Given the description of an element on the screen output the (x, y) to click on. 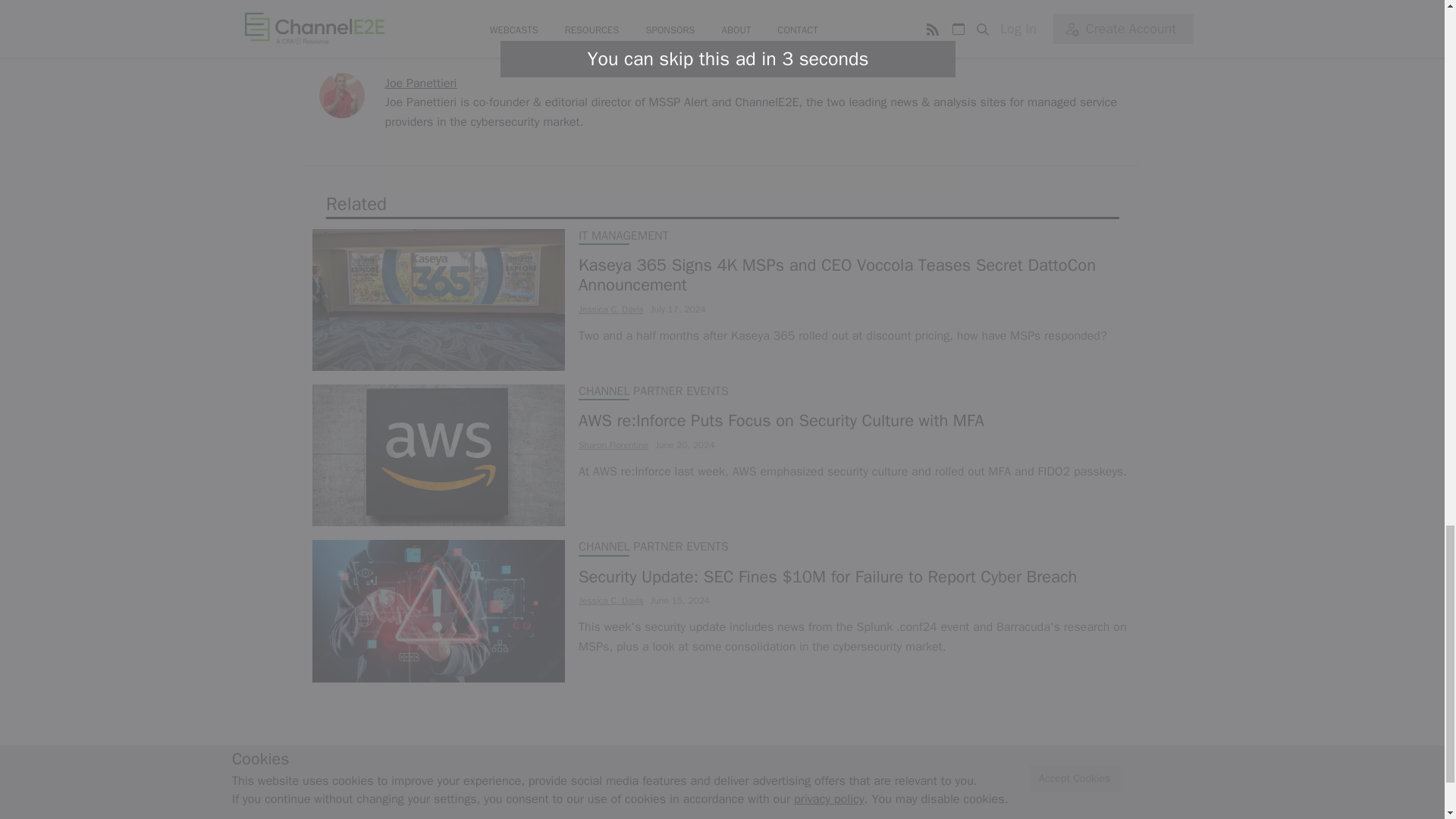
Joe Panettieri (421, 83)
IT MANAGEMENT (623, 235)
Sharon Florentine (612, 444)
CHANNEL PARTNER EVENTS (653, 391)
3rd party ad content (721, 3)
CHANNEL PARTNER EVENTS (653, 547)
submit your channel partner summit or conference (549, 30)
Jessica C. Davis (610, 309)
AWS re:Inforce Puts Focus on Security Culture with MFA (851, 420)
